Given the description of an element on the screen output the (x, y) to click on. 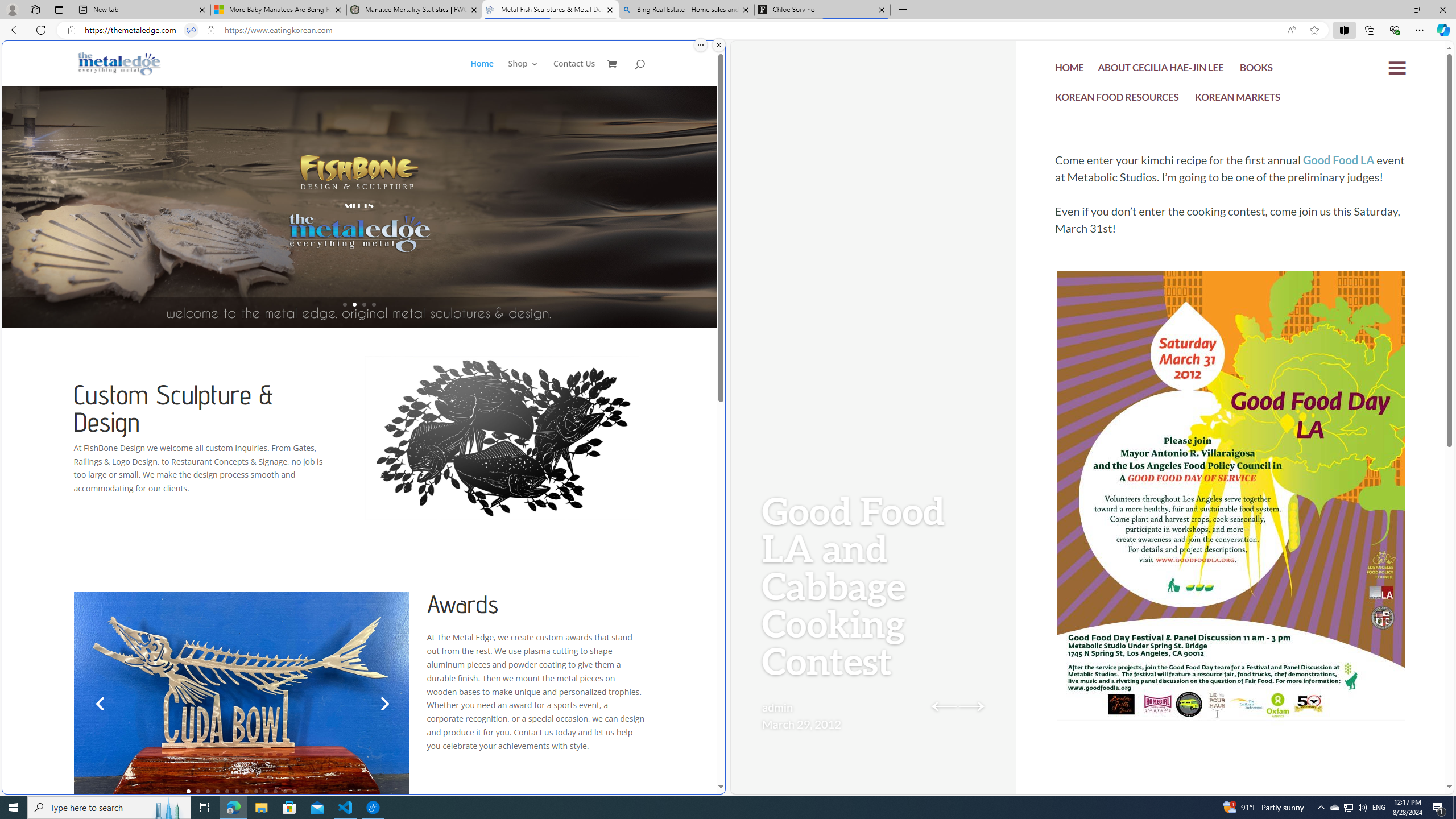
11 (284, 790)
Close split screen. (719, 45)
5 (226, 790)
Metal Fish Sculptures & Metal Designs (119, 63)
Good Food LA (1338, 160)
Bing Real Estate - Home sales and rental listings (685, 9)
March 29, 2012 (801, 723)
12 (294, 790)
ABOUT CECILIA HAE-JIN LEE (1160, 70)
Shop3 (529, 72)
KOREAN FOOD RESOURCES (1117, 99)
